Given the description of an element on the screen output the (x, y) to click on. 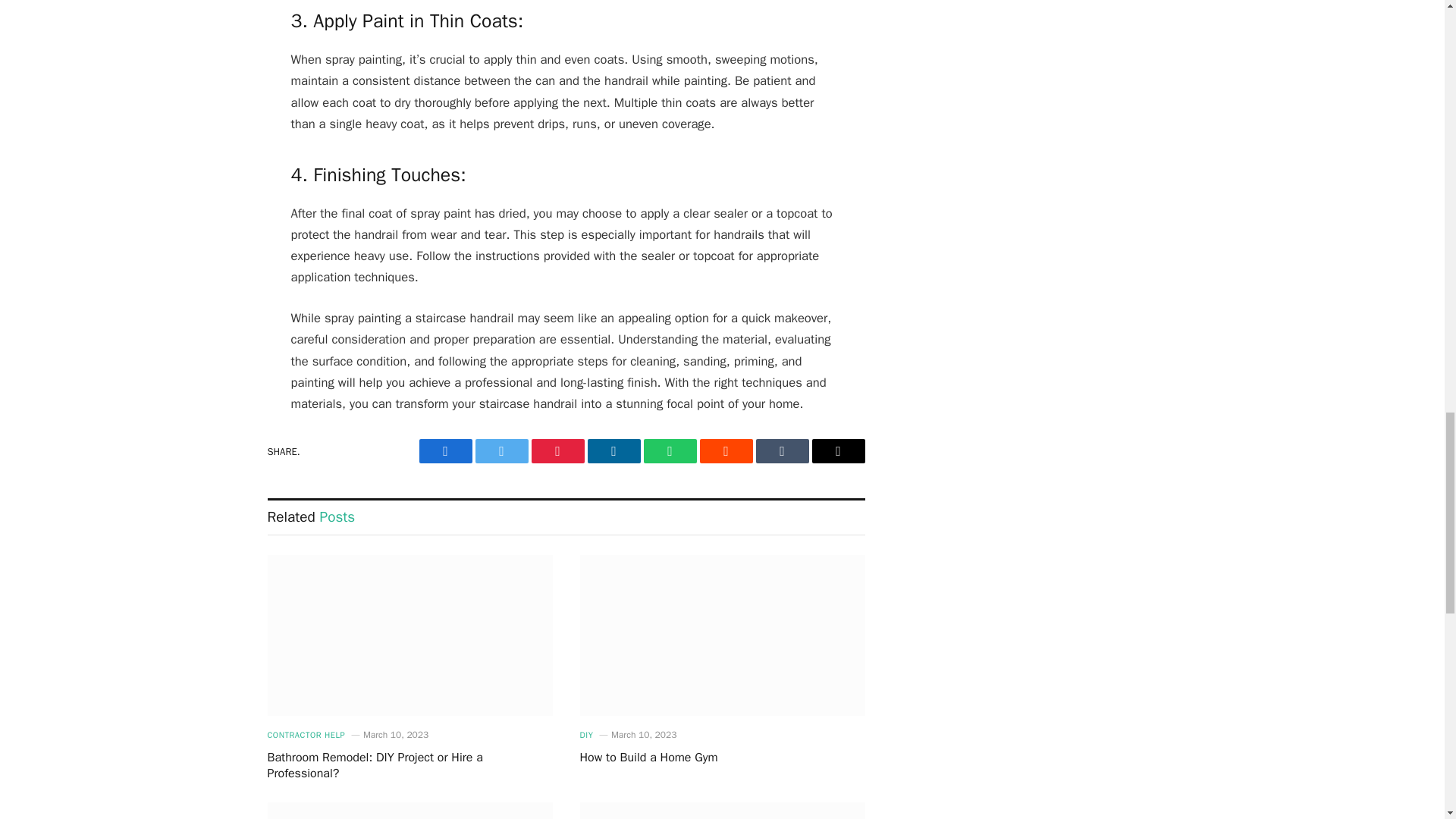
Tumblr (781, 450)
WhatsApp (669, 450)
Reddit (725, 450)
Facebook (445, 450)
LinkedIn (613, 450)
Pinterest (557, 450)
Twitter (500, 450)
